Given the description of an element on the screen output the (x, y) to click on. 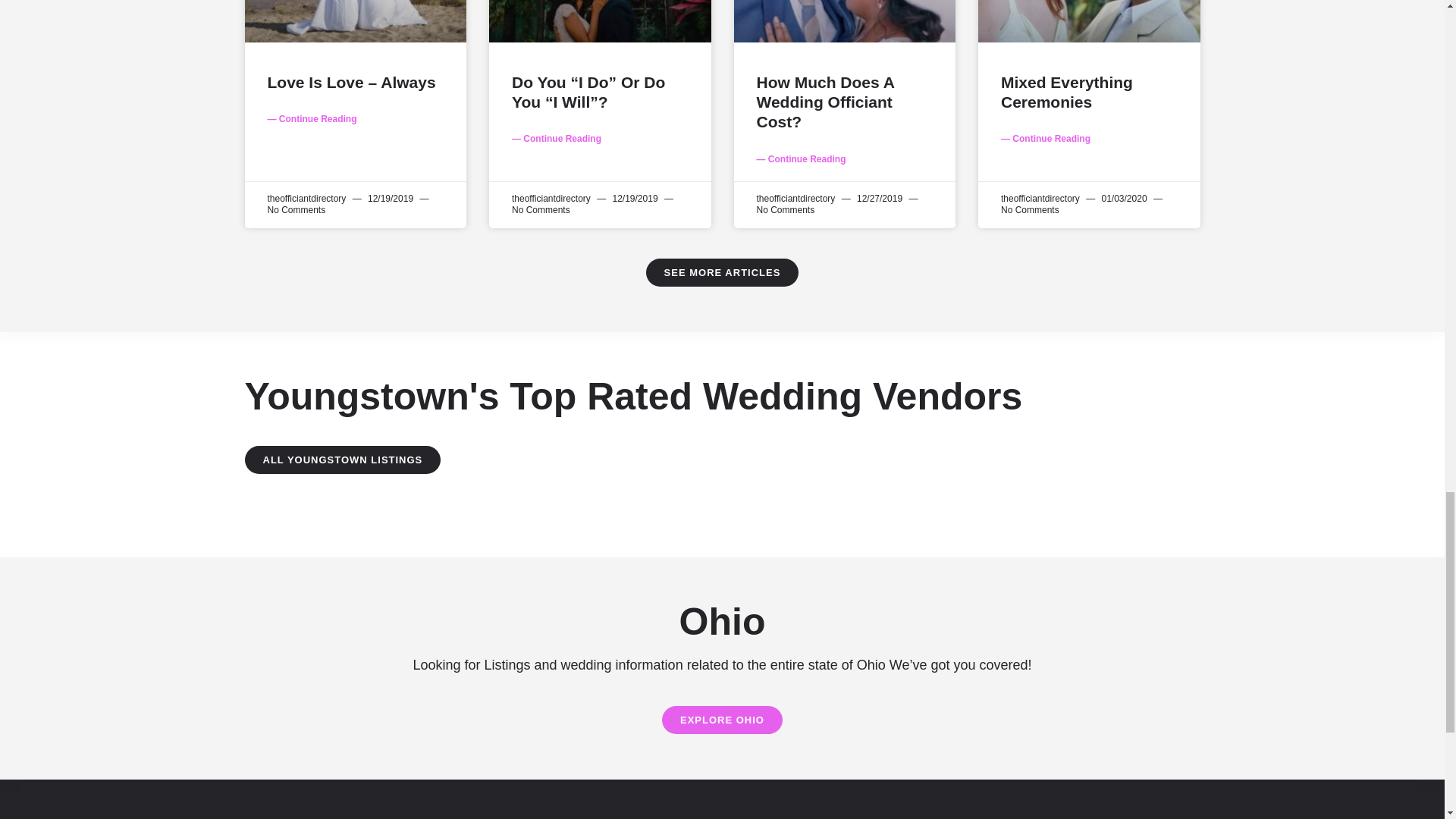
EXPLORE OHIO (722, 719)
ALL YOUNGSTOWN LISTINGS (342, 459)
Mixed Everything Ceremonies (1066, 91)
How Much Does A Wedding Officiant Cost? (826, 102)
SEE MORE ARTICLES (722, 272)
